Given the description of an element on the screen output the (x, y) to click on. 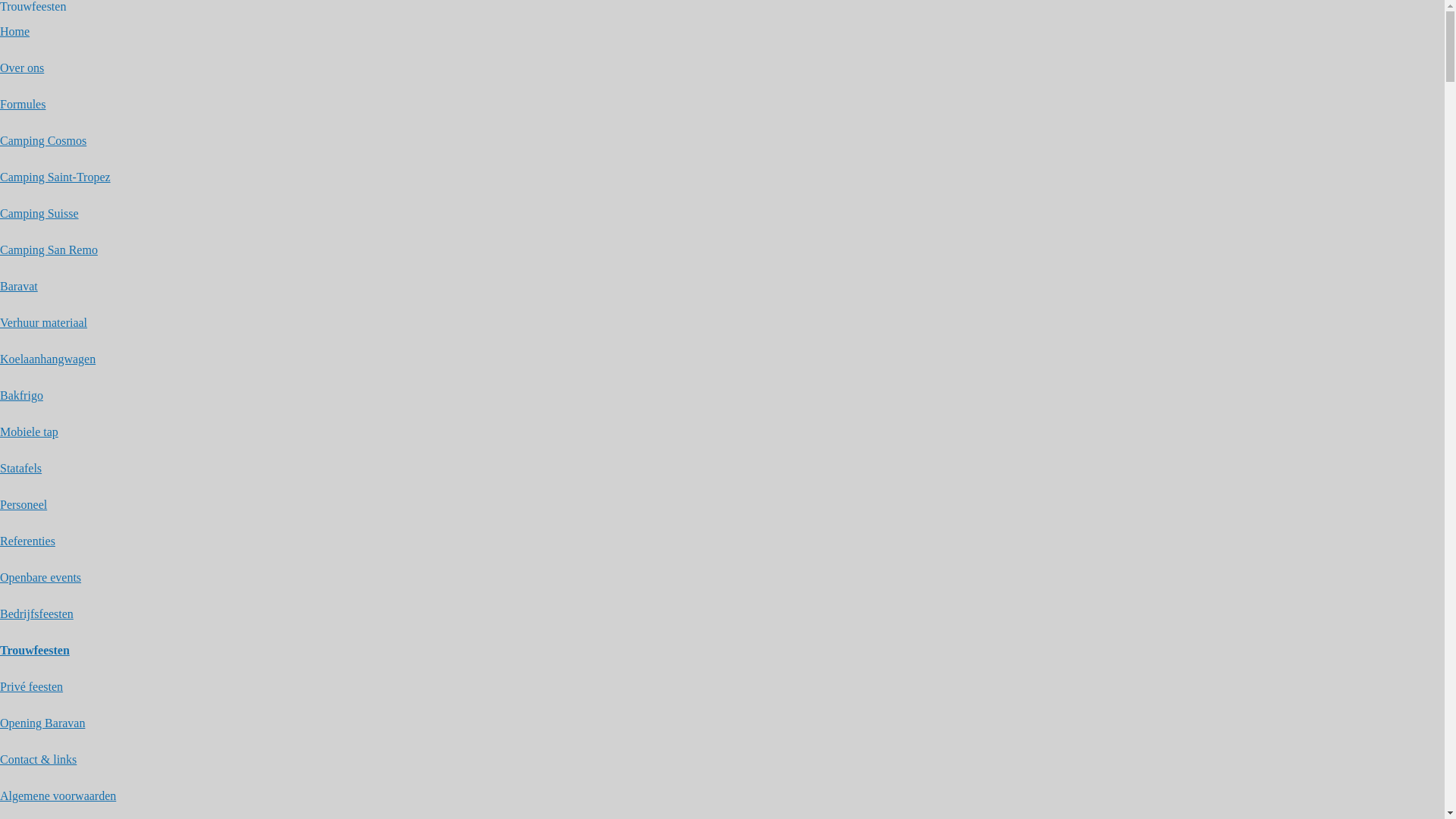
Baravat Element type: text (18, 285)
Contact & links Element type: text (38, 759)
Personeel Element type: text (23, 504)
Algemene voorwaarden Element type: text (58, 795)
Openbare events Element type: text (40, 577)
Verhuur materiaal Element type: text (43, 322)
Camping Cosmos Element type: text (43, 140)
Home Element type: text (14, 31)
Camping San Remo Element type: text (48, 249)
Bakfrigo Element type: text (21, 395)
Over ons Element type: text (21, 67)
Mobiele tap Element type: text (29, 431)
Trouwfeesten Element type: text (34, 649)
Statafels Element type: text (20, 467)
Camping Saint-Tropez Element type: text (55, 176)
Opening Baravan Element type: text (42, 722)
Koelaanhangwagen Element type: text (47, 358)
Referenties Element type: text (27, 540)
Bedrijfsfeesten Element type: text (36, 613)
Formules Element type: text (22, 103)
Camping Suisse Element type: text (39, 213)
